Given the description of an element on the screen output the (x, y) to click on. 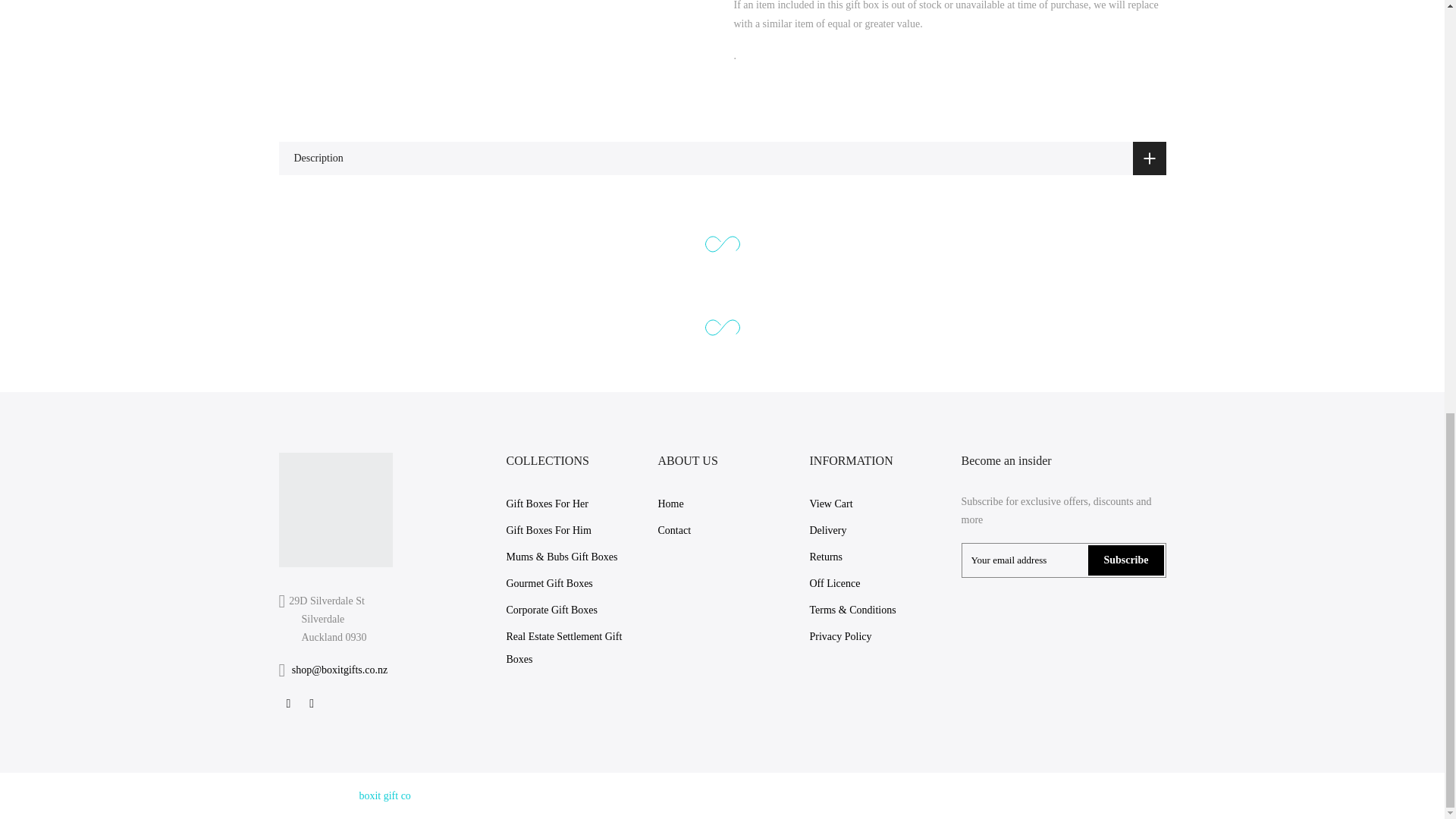
Description (722, 158)
Gift Boxes For Her (547, 503)
